Given the description of an element on the screen output the (x, y) to click on. 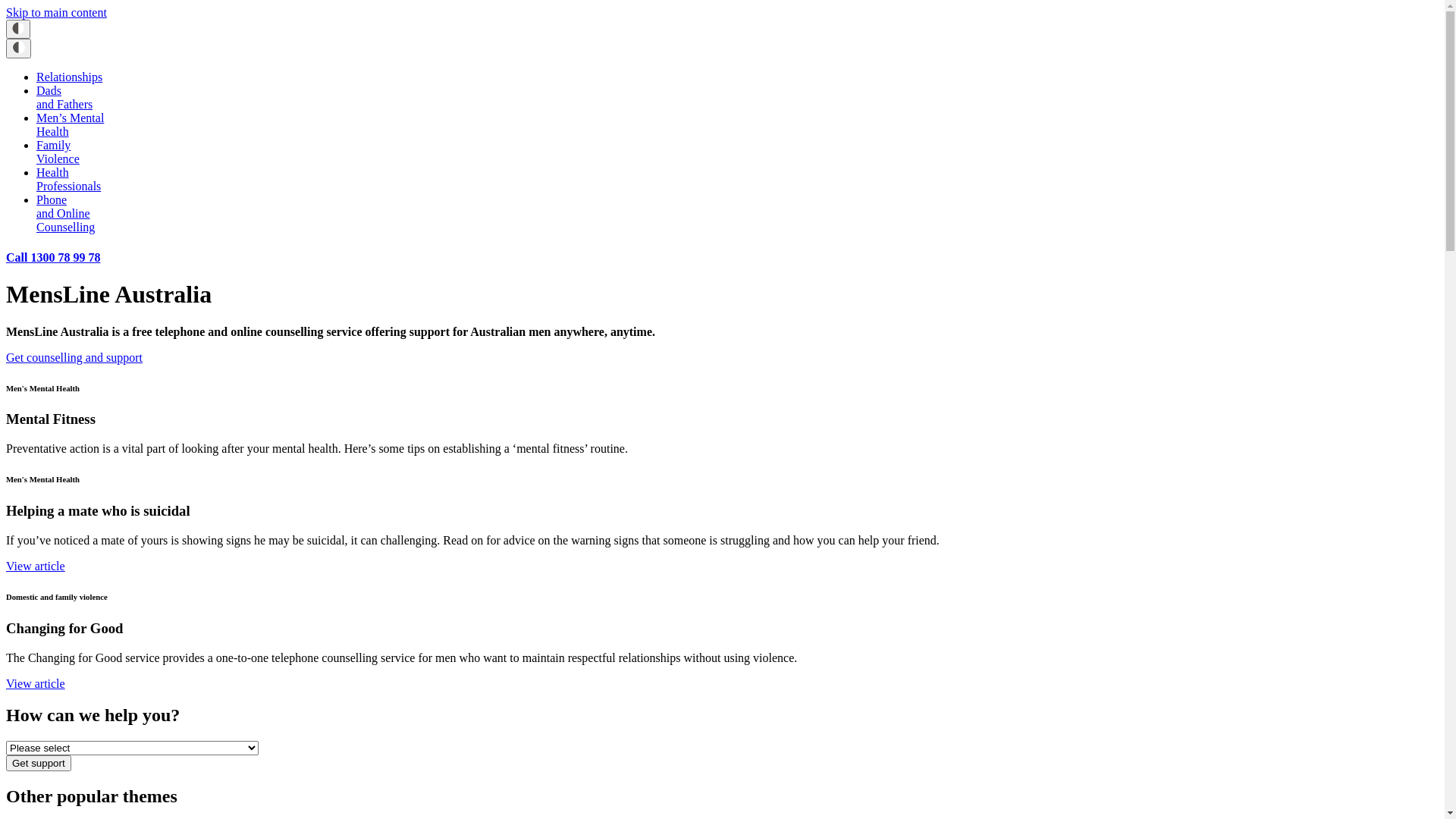
Get counselling and support Element type: text (74, 357)
Health
Professionals Element type: text (68, 179)
Dads
and Fathers Element type: text (64, 97)
Toggle High Contrast icon Element type: text (18, 48)
Call 1300 78 99 78 Element type: text (53, 257)
Phone
and Online
Counselling Element type: text (65, 213)
Skip to main content Element type: text (56, 12)
View article Element type: text (35, 682)
Family
Violence Element type: text (57, 151)
Relationships Element type: text (69, 76)
Toggle High Contrast icon Element type: text (18, 28)
View article Element type: text (35, 565)
Get support Element type: text (38, 763)
